Given the description of an element on the screen output the (x, y) to click on. 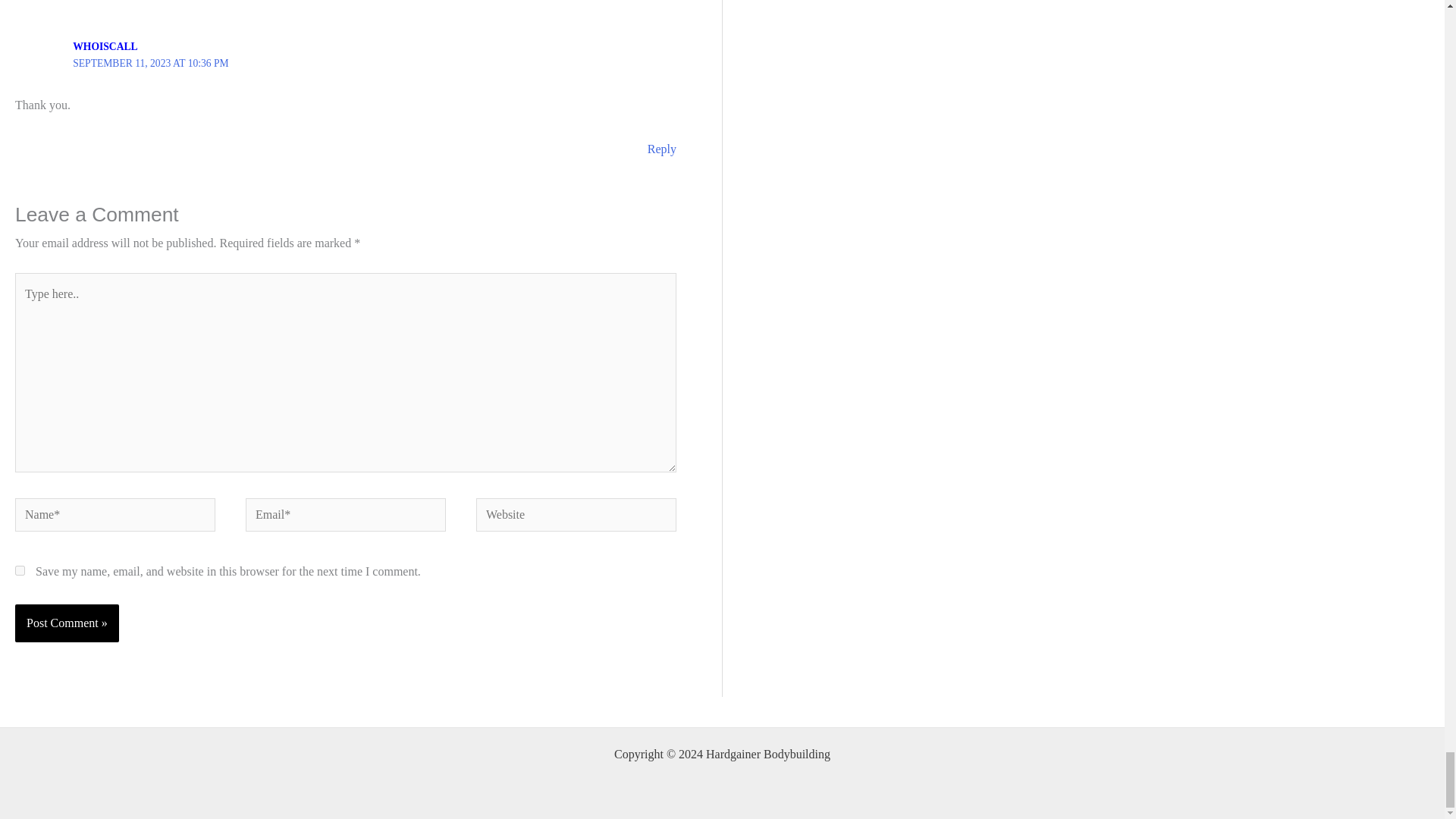
yes (19, 570)
